Given the description of an element on the screen output the (x, y) to click on. 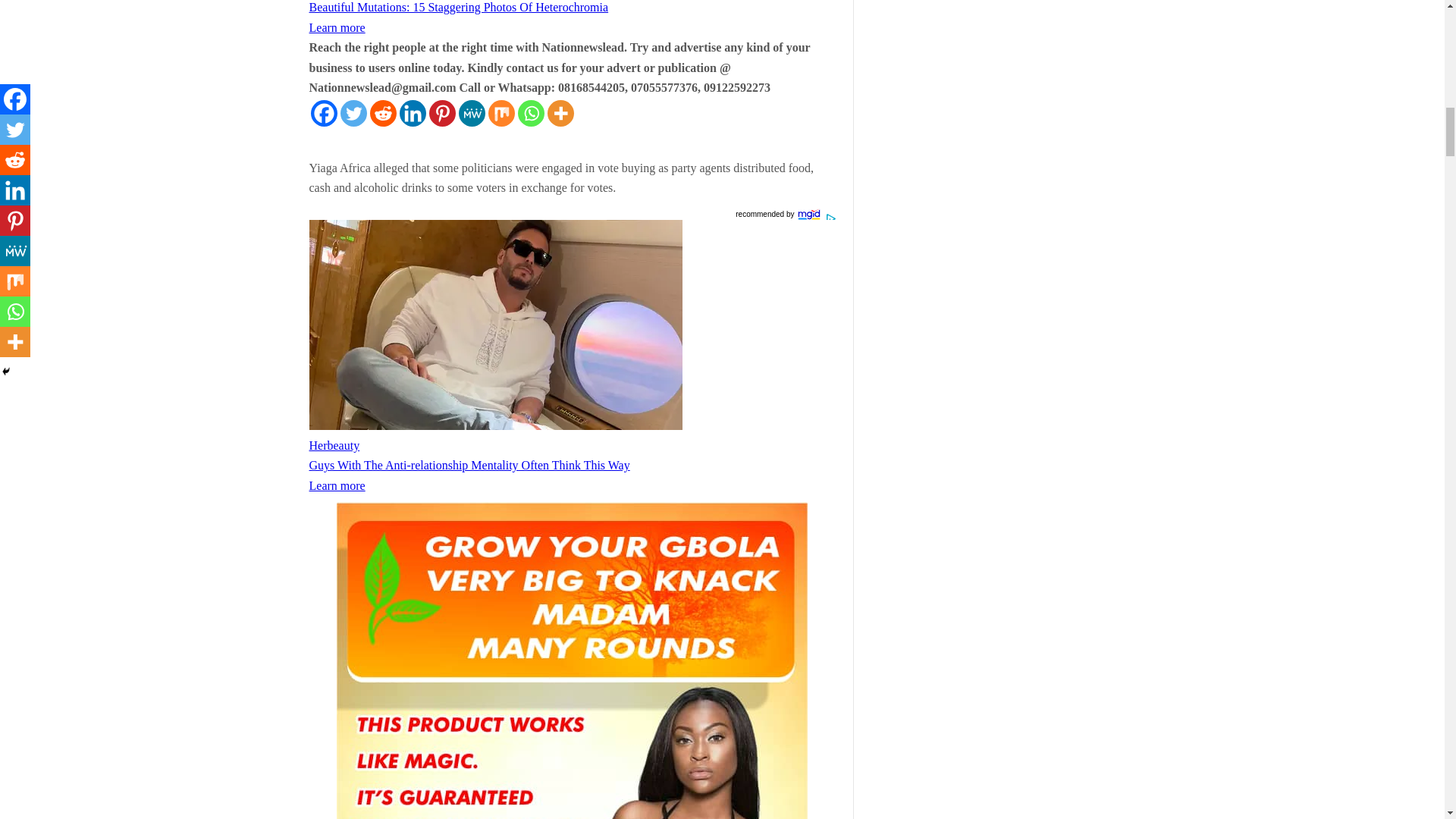
Linkedin (411, 112)
Mix (501, 112)
Facebook (324, 112)
Whatsapp (529, 112)
Twitter (352, 112)
Pinterest (442, 112)
Reddit (382, 112)
MeWe (471, 112)
More (560, 112)
